Given the description of an element on the screen output the (x, y) to click on. 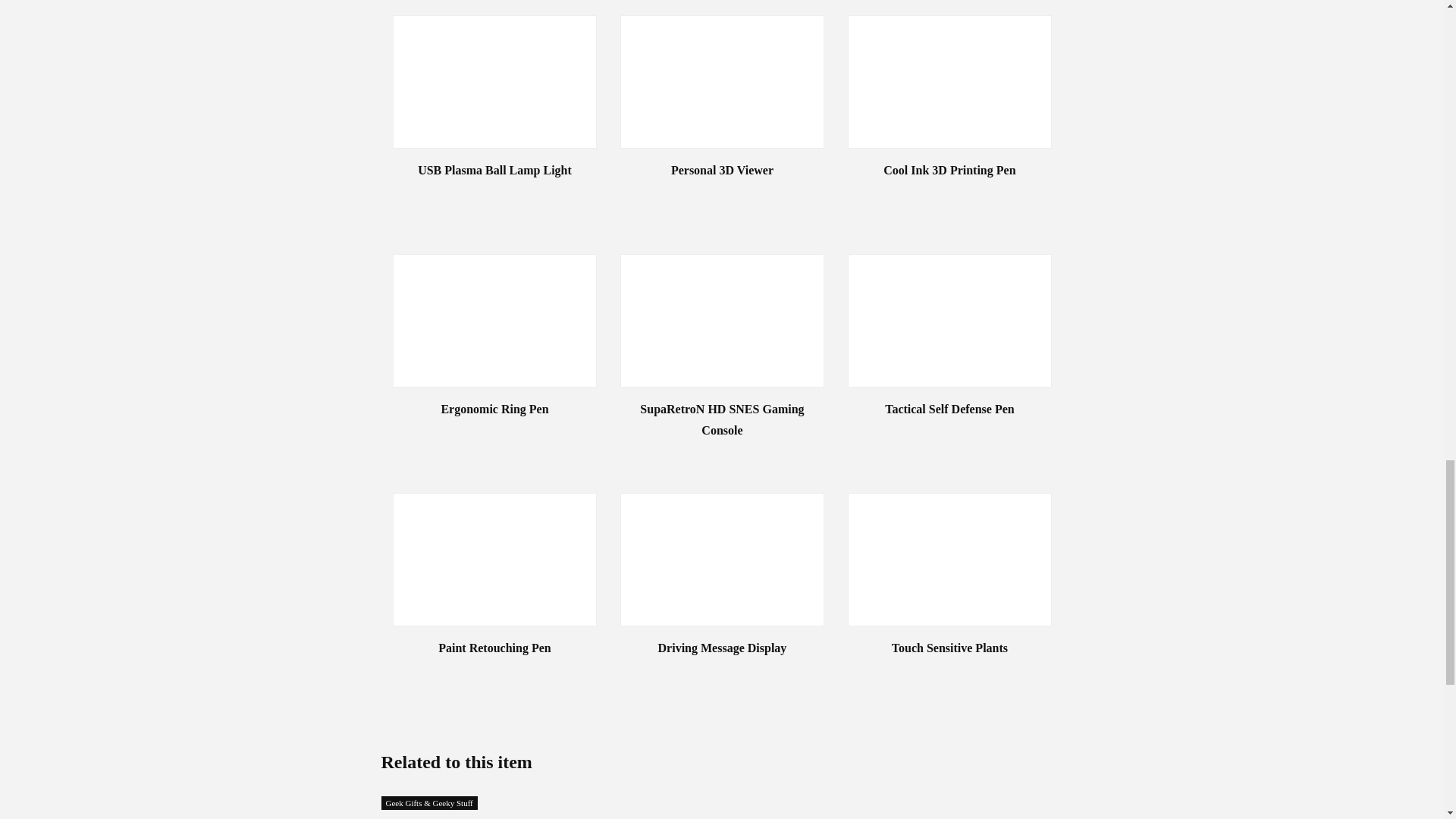
Cool Ink 3D Printing Pen (949, 169)
USB Plasma Ball Lamp Light (494, 169)
Personal 3D Viewer (722, 169)
